Given the description of an element on the screen output the (x, y) to click on. 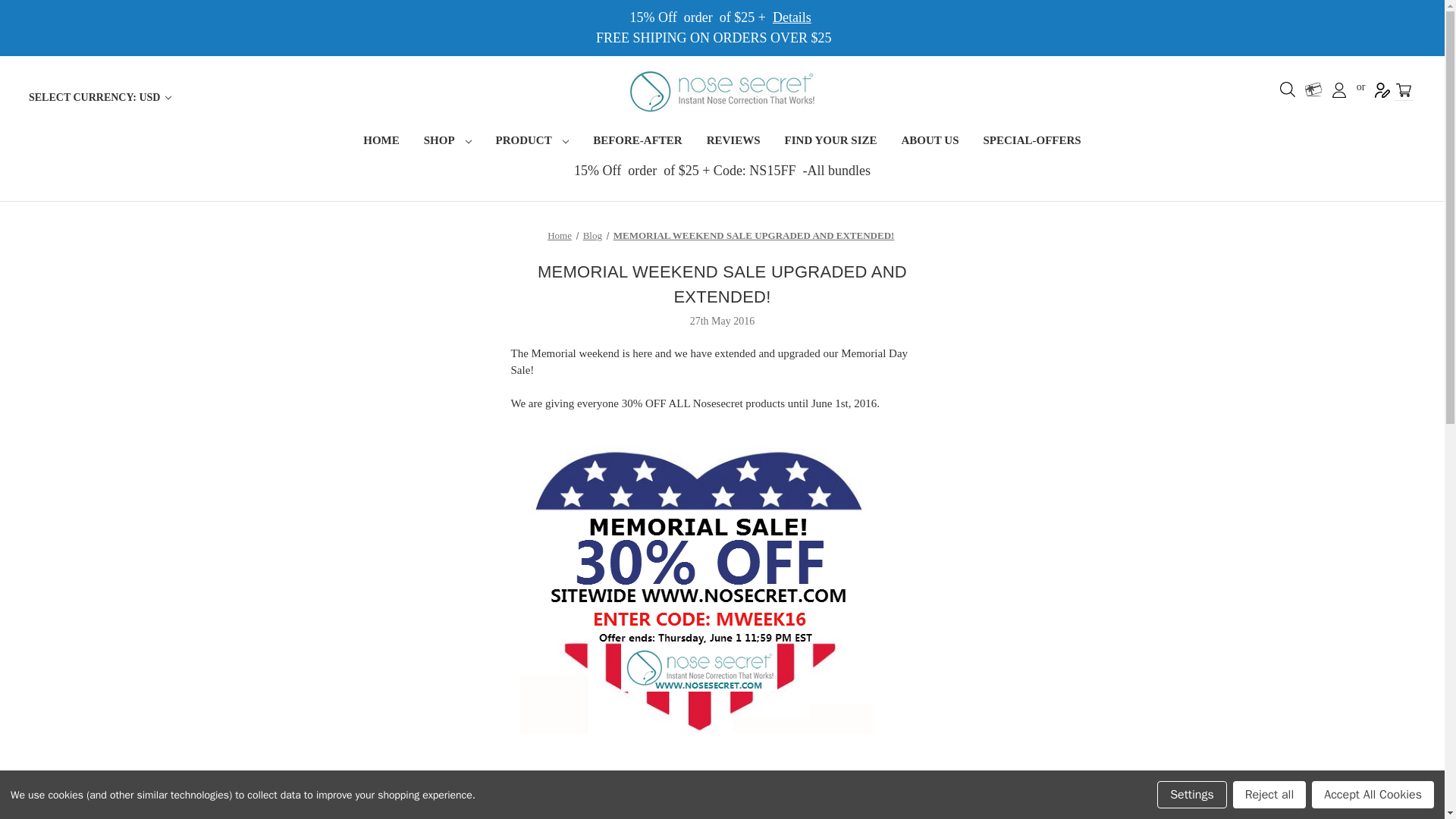
BEFORE-AFTER (637, 141)
REVIEWS (733, 141)
Details (791, 17)
FIND YOUR SIZE (831, 141)
PRODUCT (531, 141)
CART (1403, 90)
HOME (381, 141)
SELECT CURRENCY: USD (99, 97)
Home (559, 235)
Blog (592, 235)
SHOP (447, 141)
ABOUT US (930, 141)
SPECIAL-OFFERS (1032, 141)
